Given the description of an element on the screen output the (x, y) to click on. 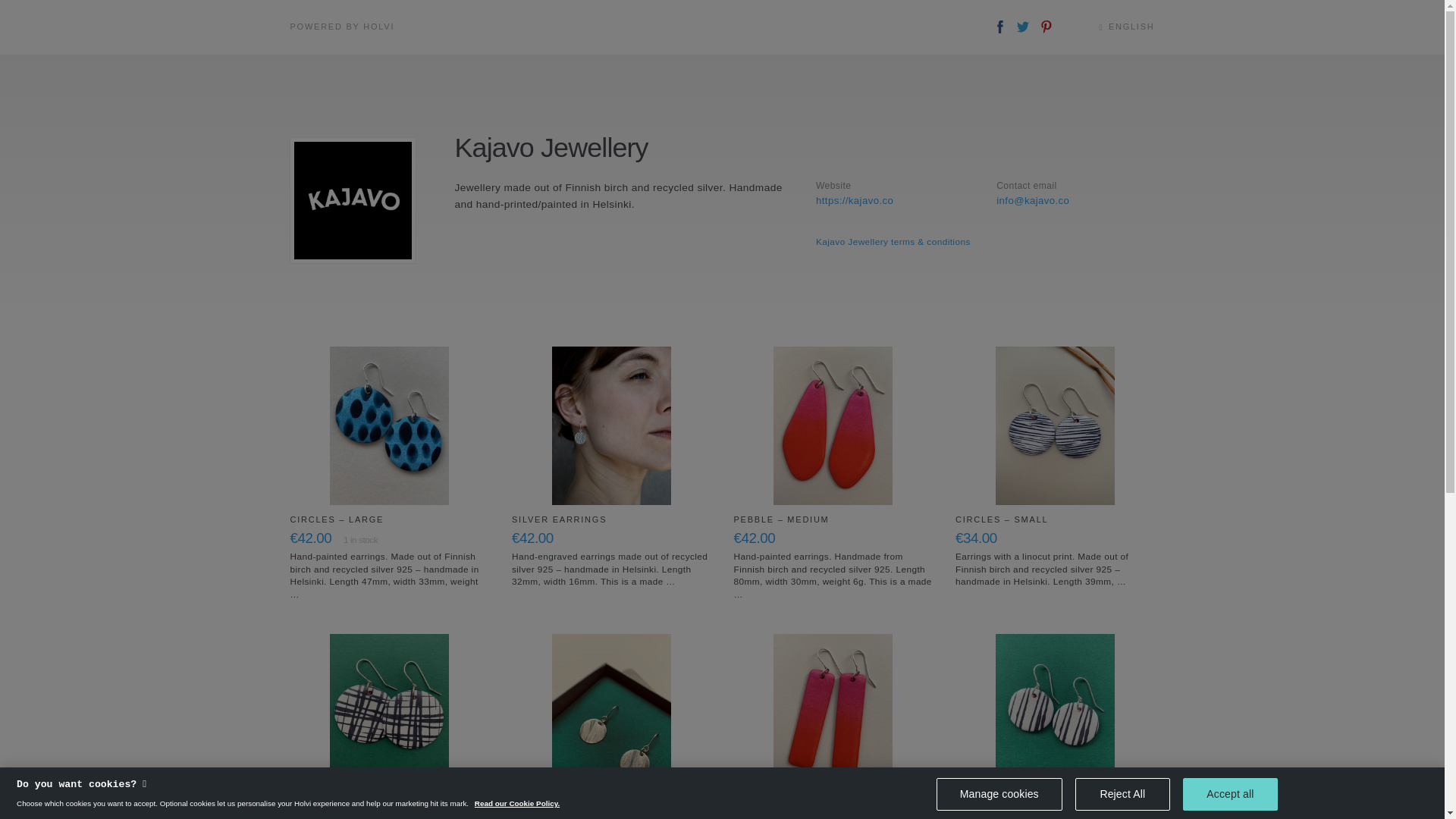
POWERED BY HOLVI (341, 26)
Reject All (1122, 794)
Tweet (1022, 26)
Manage cookies (999, 794)
Pin it (1045, 26)
Read our Cookie Policy. (516, 803)
Share on Facebook (1000, 26)
Accept all (1230, 794)
